Given the description of an element on the screen output the (x, y) to click on. 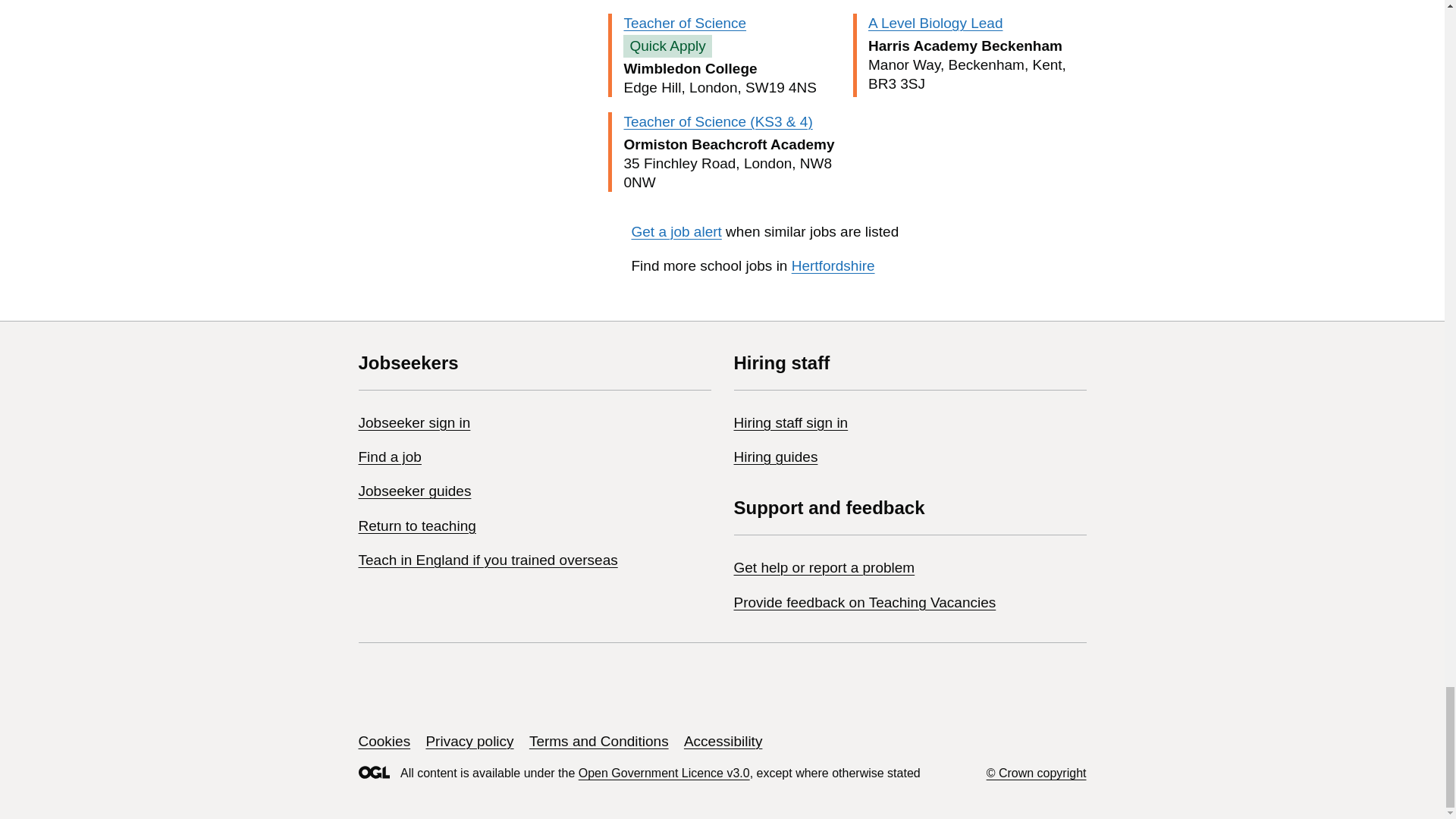
Teacher of Science (684, 23)
Teach in England if you trained overseas (487, 560)
Find a job (389, 456)
Hiring staff sign in (790, 422)
A Level Biology Lead (935, 23)
Jobseeker guides (414, 490)
Jobseeker sign in (414, 422)
Hertfordshire (833, 265)
Get a job alert (675, 231)
Return to teaching (417, 525)
